Given the description of an element on the screen output the (x, y) to click on. 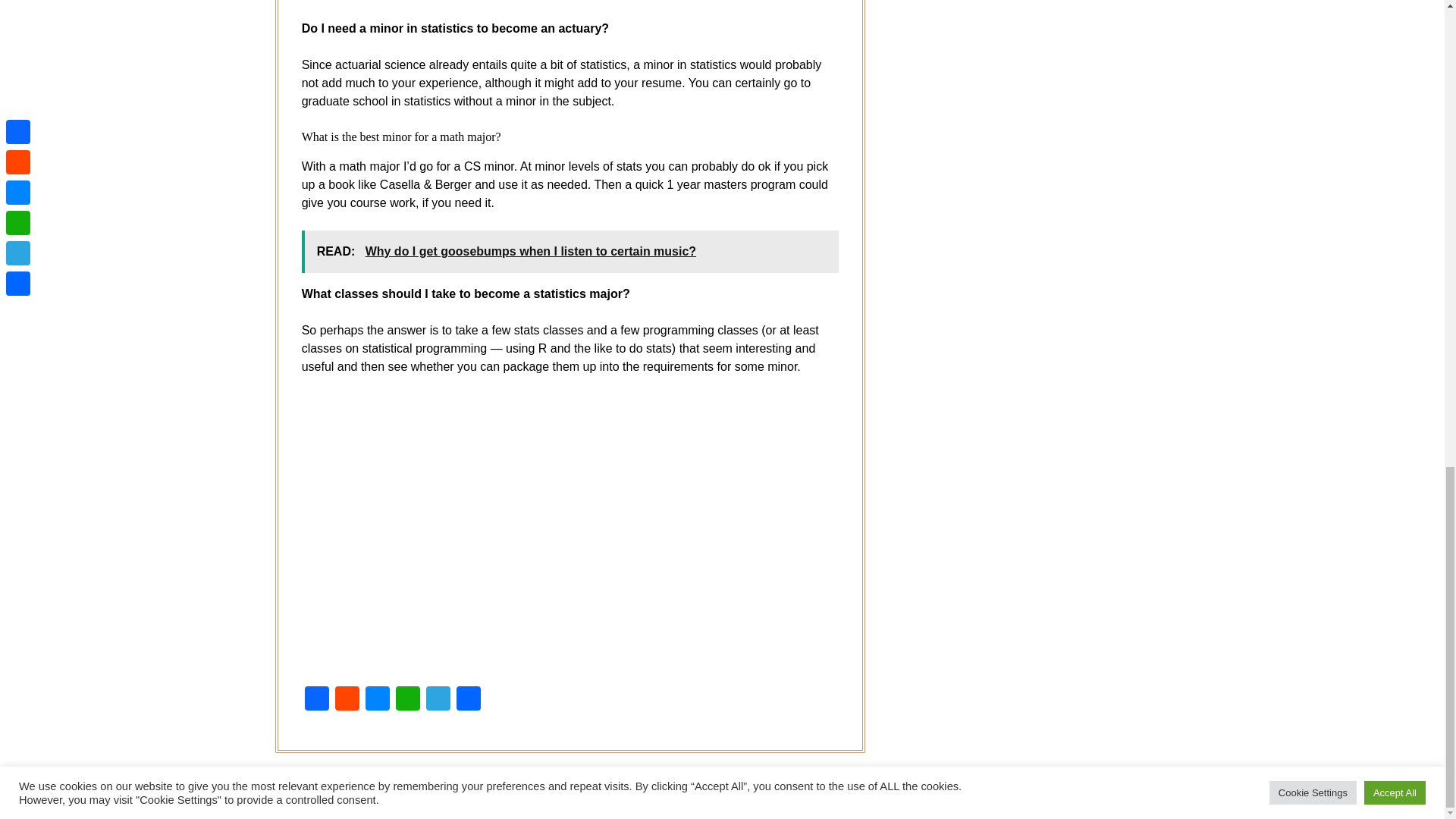
Share (467, 700)
WhatsApp (408, 700)
Messenger (377, 700)
Reddit (346, 700)
The BEST College Degree Minors! (544, 530)
Messenger (377, 700)
Telegram (437, 700)
Facebook (316, 700)
WhatsApp (408, 700)
Facebook (316, 700)
Telegram (437, 700)
Minimalist Blog (757, 797)
Reddit (346, 700)
